Given the description of an element on the screen output the (x, y) to click on. 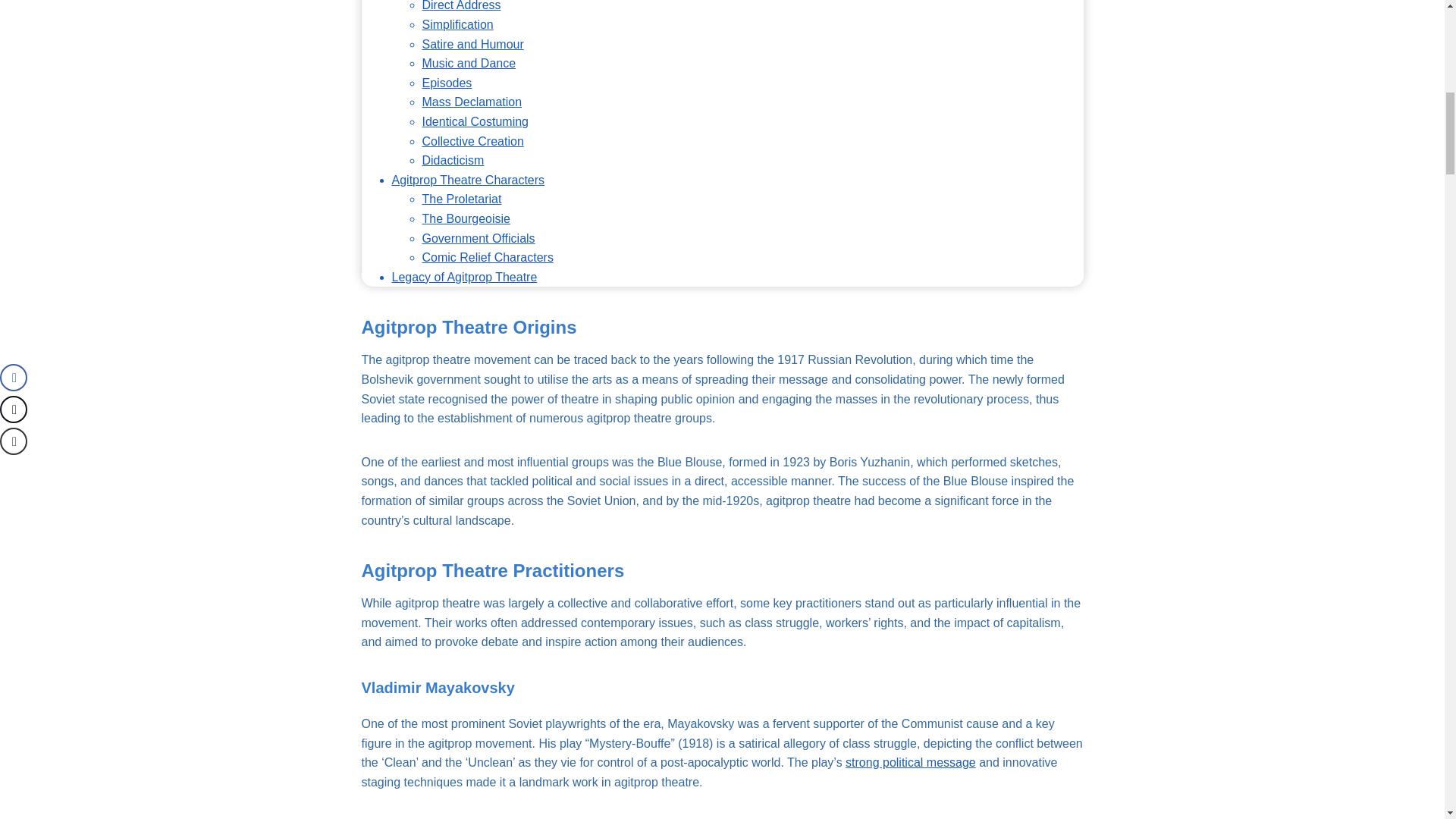
Music and Dance (468, 62)
Collective Creation (472, 141)
Satire and Humour (472, 43)
Episodes (446, 82)
Government Officials (478, 237)
Agitprop Theatre Characters (467, 179)
Direct Address (461, 5)
Simplification (457, 24)
Identical Costuming (475, 121)
The Bourgeoisie (466, 218)
The Proletariat (461, 198)
Mass Declamation (471, 101)
Didacticism (452, 160)
